Given the description of an element on the screen output the (x, y) to click on. 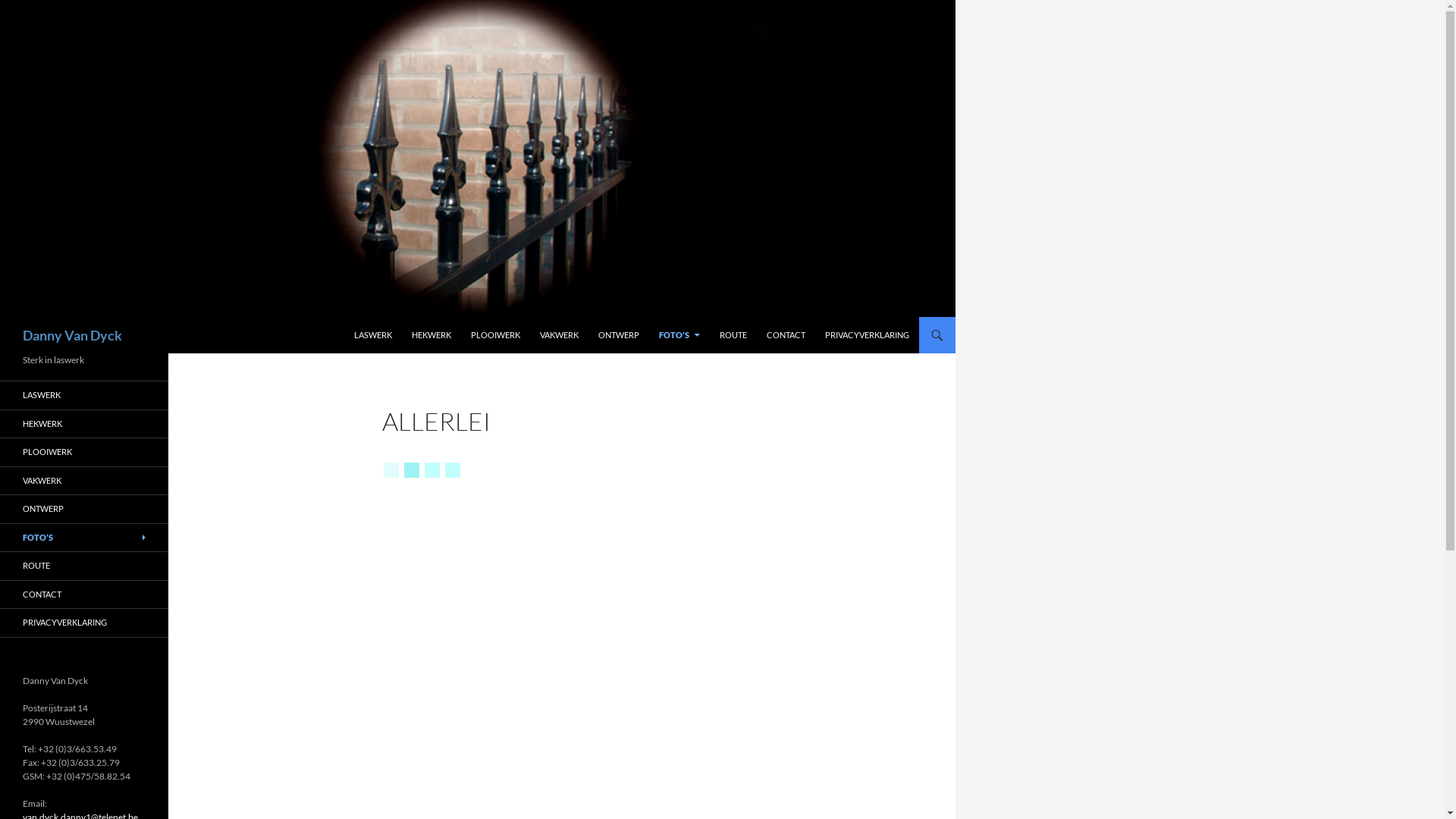
LASWERK Element type: text (84, 395)
PLOOIWERK Element type: text (84, 452)
ONTWERP Element type: text (84, 509)
CONTACT Element type: text (84, 594)
LASWERK Element type: text (373, 334)
PRIVACYVERKLARING Element type: text (866, 334)
SPRING NAAR INHOUD Element type: text (353, 316)
ROUTE Element type: text (733, 334)
VAKWERK Element type: text (558, 334)
Zoeken Element type: text (3, 316)
CONTACT Element type: text (785, 334)
PLOOIWERK Element type: text (495, 334)
ROUTE Element type: text (84, 566)
HEKWERK Element type: text (84, 423)
VAKWERK Element type: text (84, 481)
ONTWERP Element type: text (618, 334)
HEKWERK Element type: text (431, 334)
PRIVACYVERKLARING Element type: text (84, 622)
Danny Van Dyck Element type: text (72, 334)
